Given the description of an element on the screen output the (x, y) to click on. 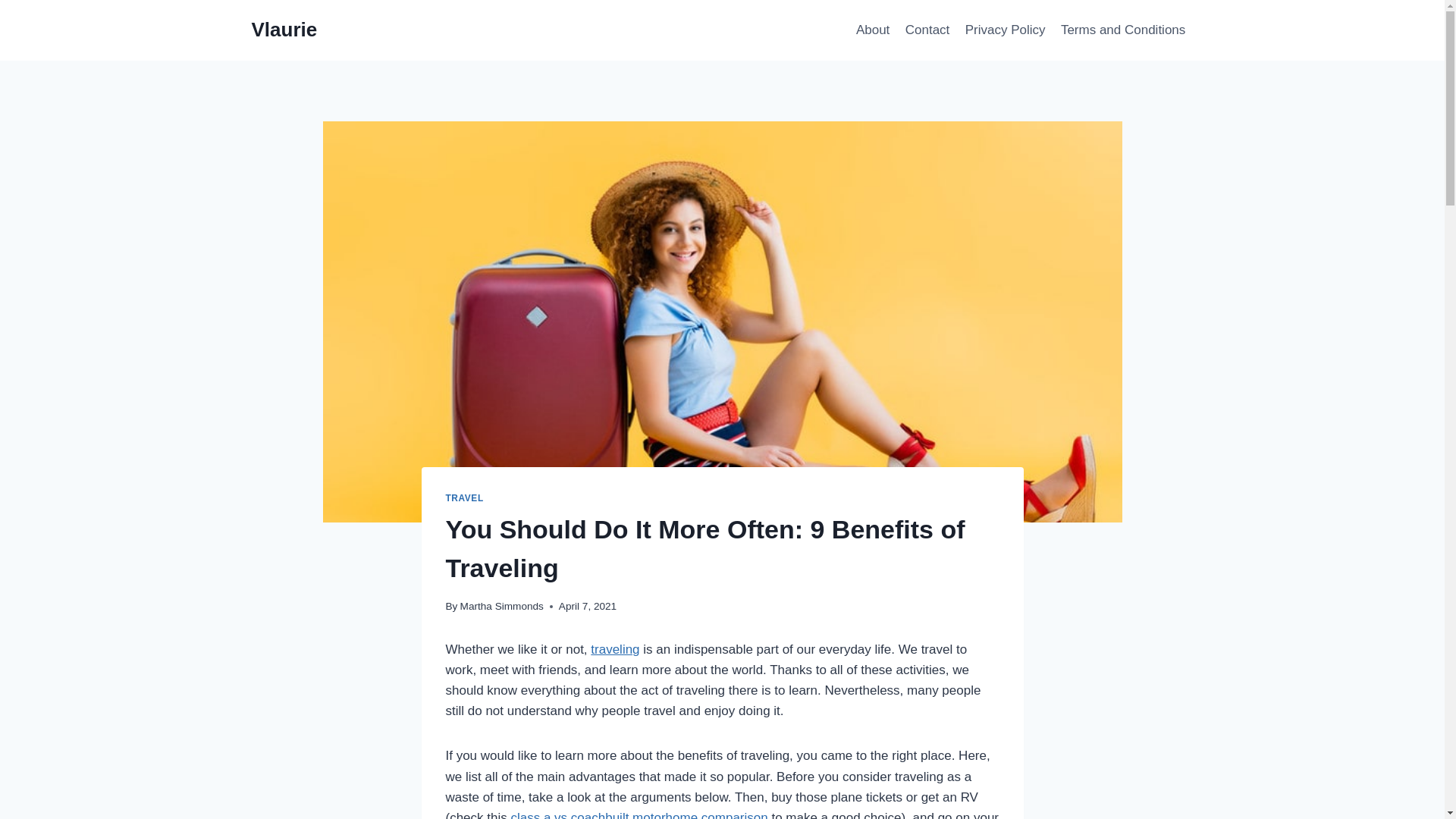
About (873, 30)
Travel (464, 498)
Martha Simmonds (501, 605)
Terms and Conditions (1122, 30)
traveling (615, 649)
traveling (615, 649)
Privacy Policy (1005, 30)
class a vs coachbuilt motorhome comparison (639, 814)
About (873, 30)
Contact (928, 30)
Martha Simmonds (501, 605)
Privacy Policy (1005, 30)
Contact (928, 30)
Terms and Conditions (1122, 30)
Vlaurie (284, 29)
